Given the description of an element on the screen output the (x, y) to click on. 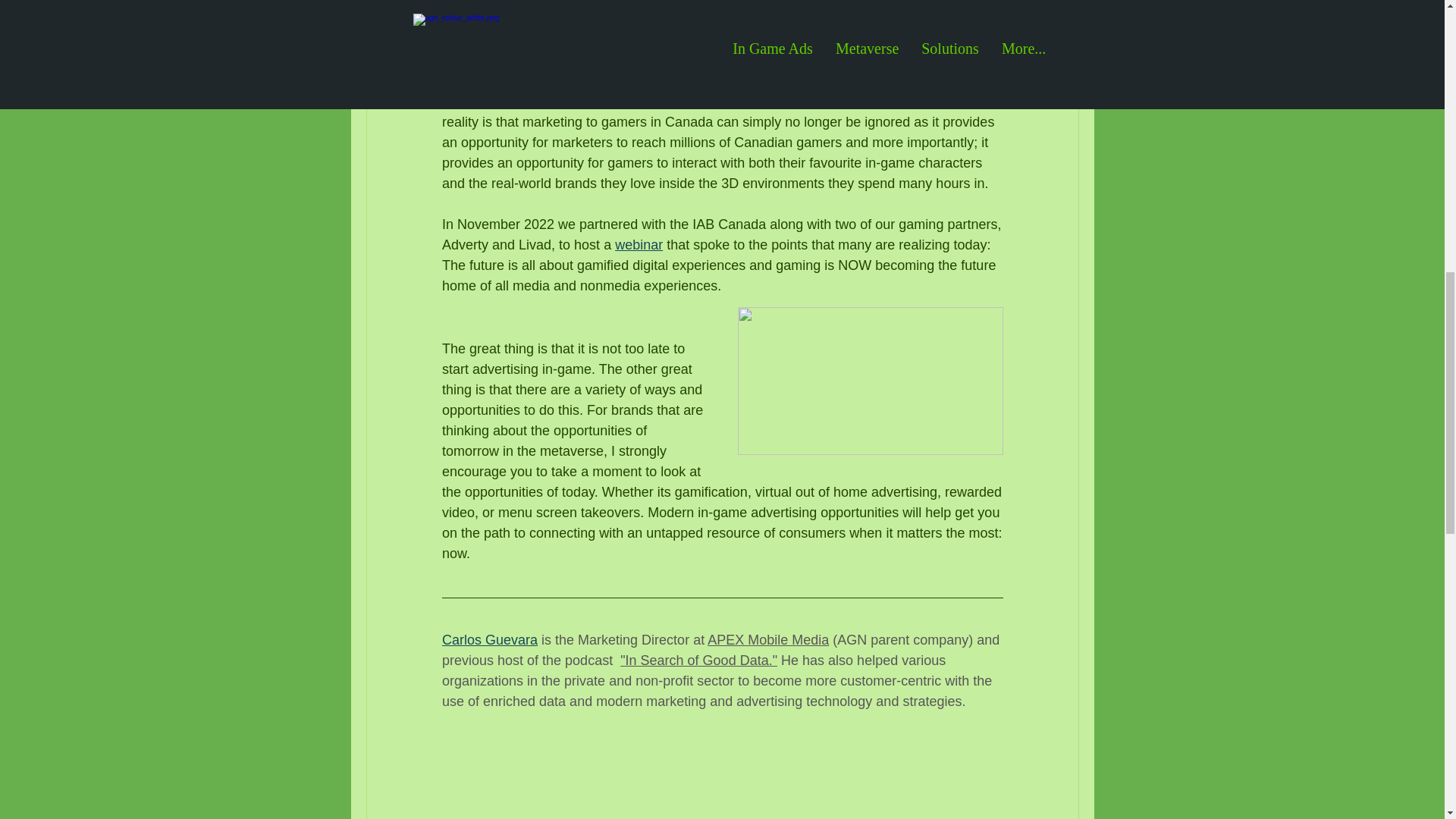
"In Search of Good Data." (698, 660)
APEX Mobile Media (767, 639)
Carlos Guevara (489, 639)
webinar (638, 244)
metaverse  (833, 60)
